Given the description of an element on the screen output the (x, y) to click on. 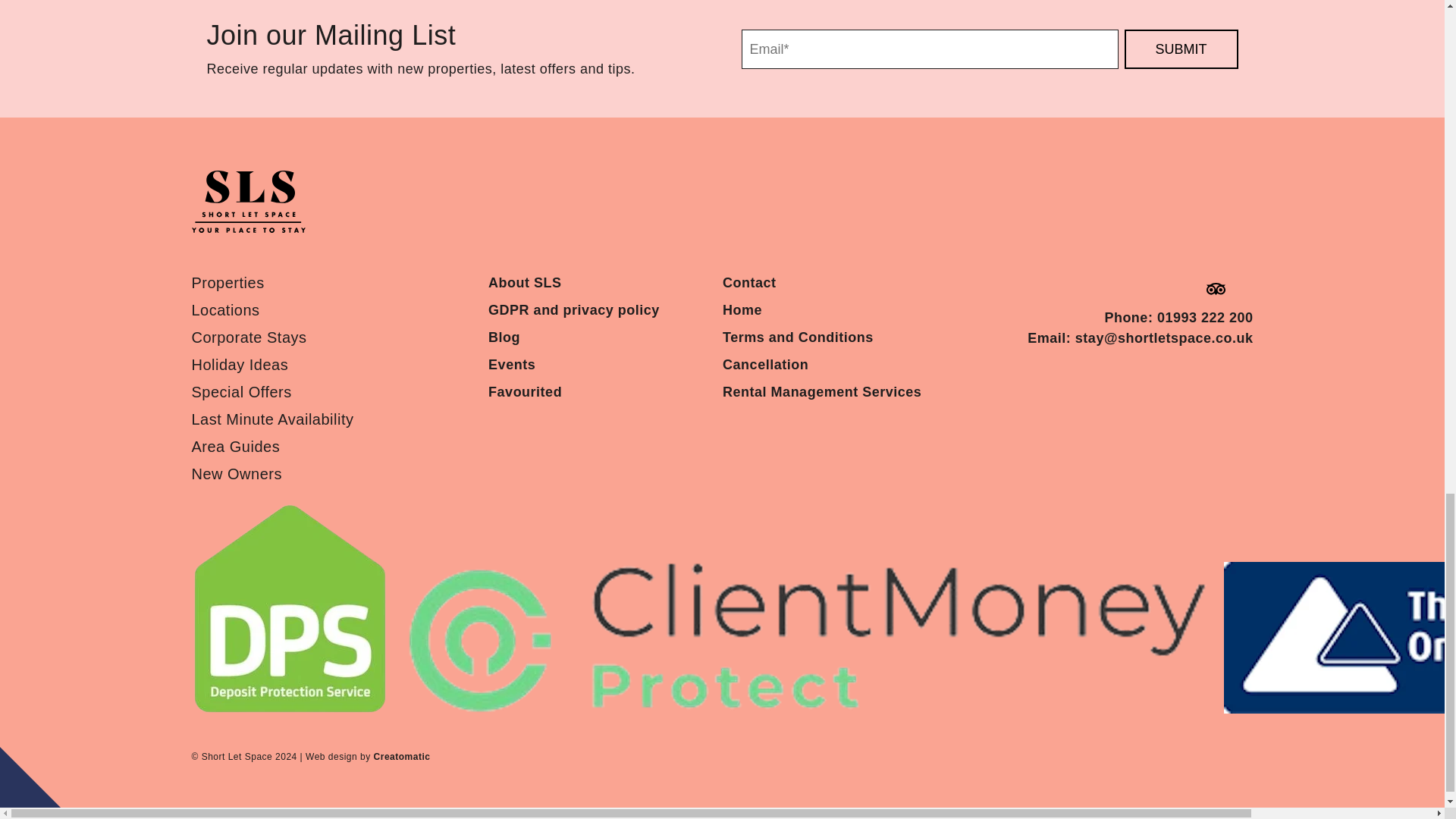
Short Let Space (247, 204)
Submit (1180, 48)
Submit (1180, 48)
